Given the description of an element on the screen output the (x, y) to click on. 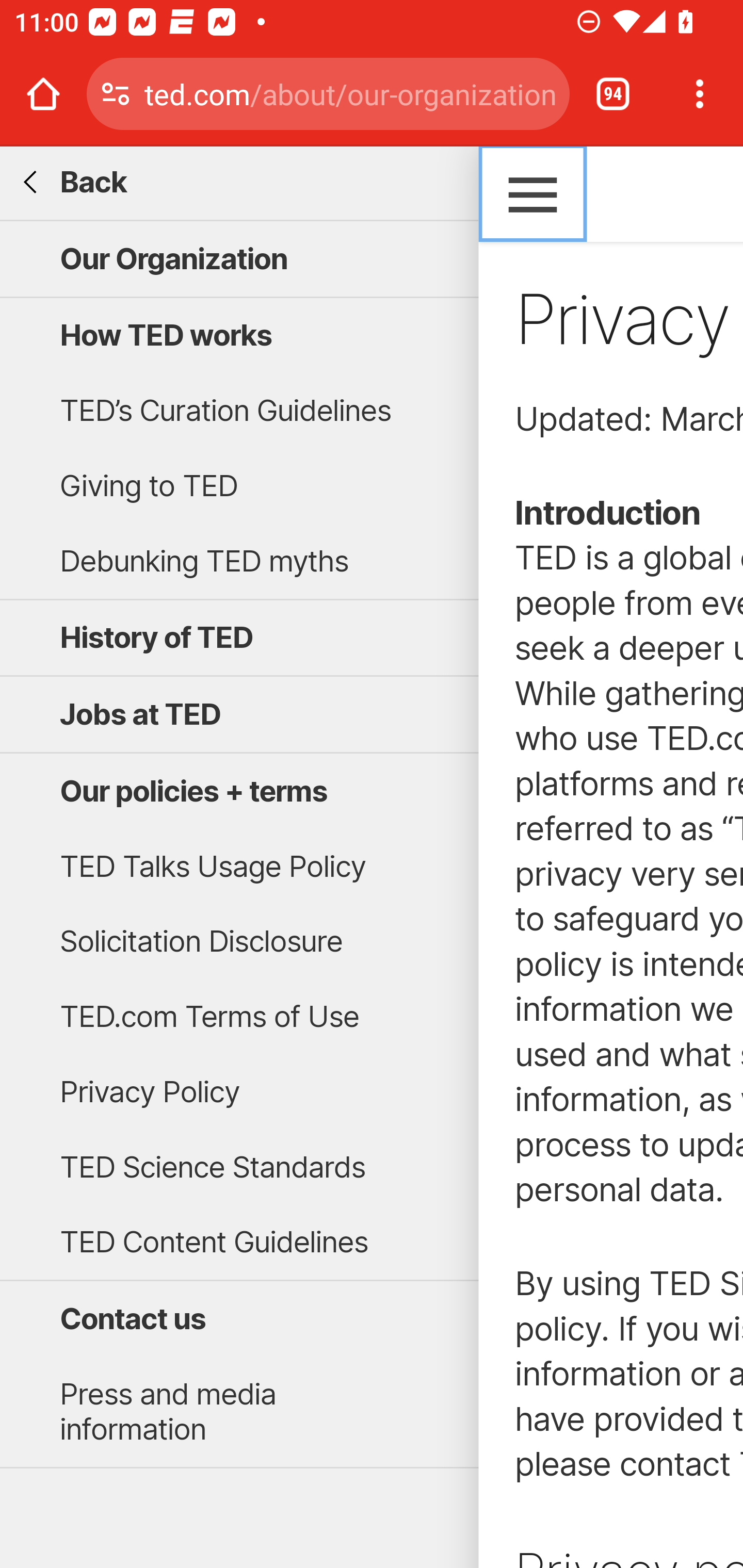
Open the home page (43, 93)
Connection is secure (115, 93)
Switch or close tabs (612, 93)
Customize and control Google Chrome (699, 93)
Main menu (532, 193)
